Given the description of an element on the screen output the (x, y) to click on. 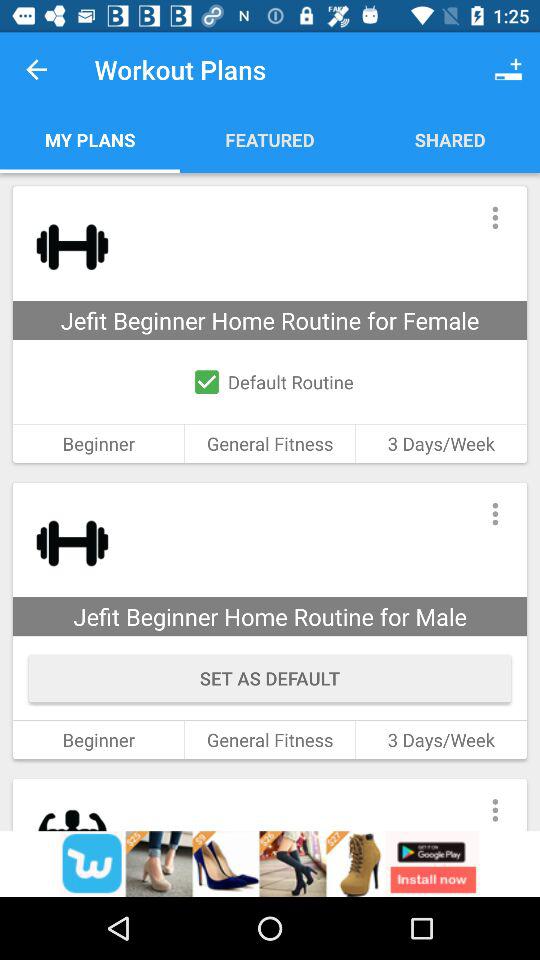
show menu (494, 217)
